Given the description of an element on the screen output the (x, y) to click on. 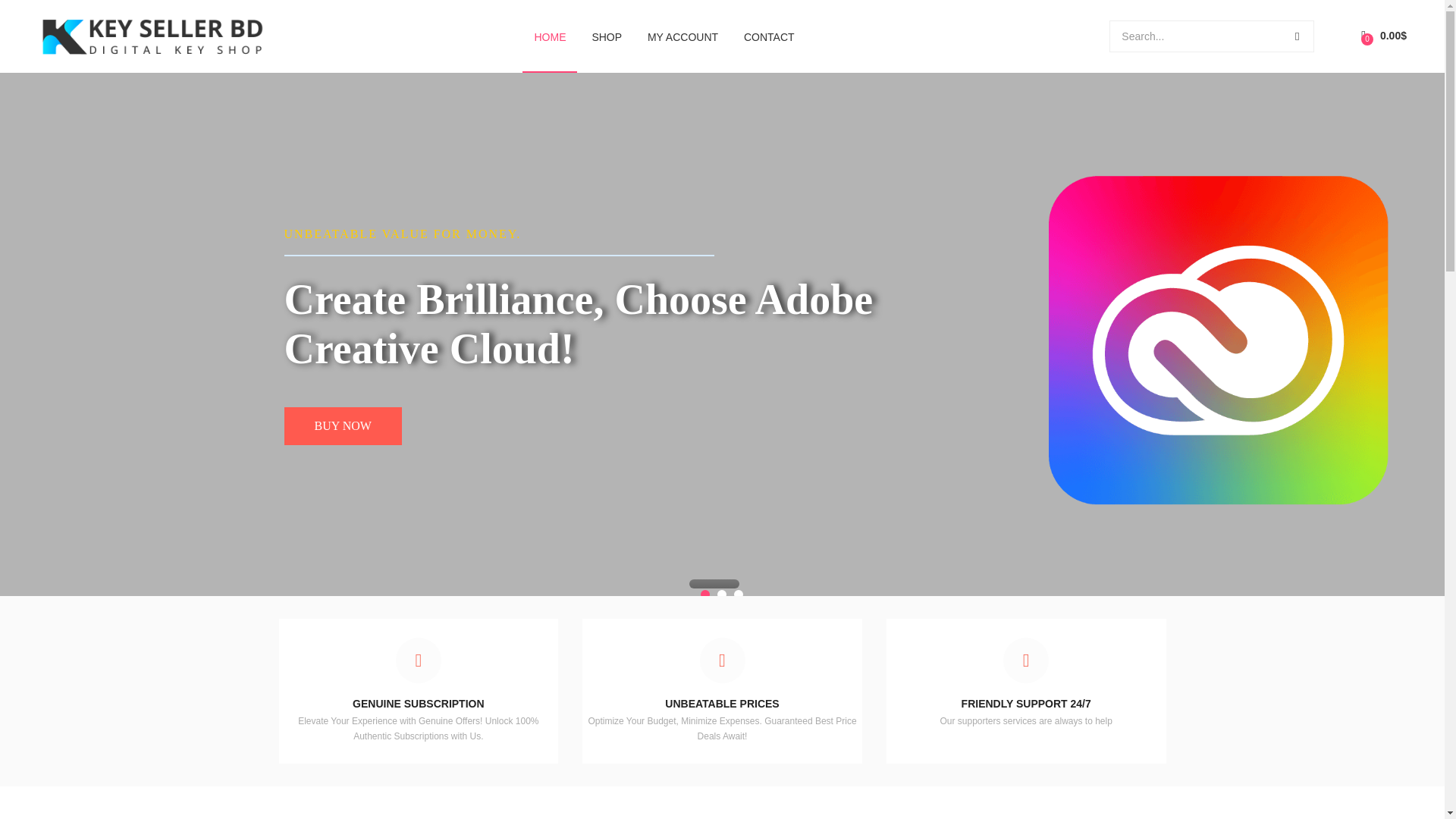
MY ACCOUNT (682, 36)
CONTACT (769, 36)
BUY NOW (342, 426)
View your shopping cart (1383, 36)
